Given the description of an element on the screen output the (x, y) to click on. 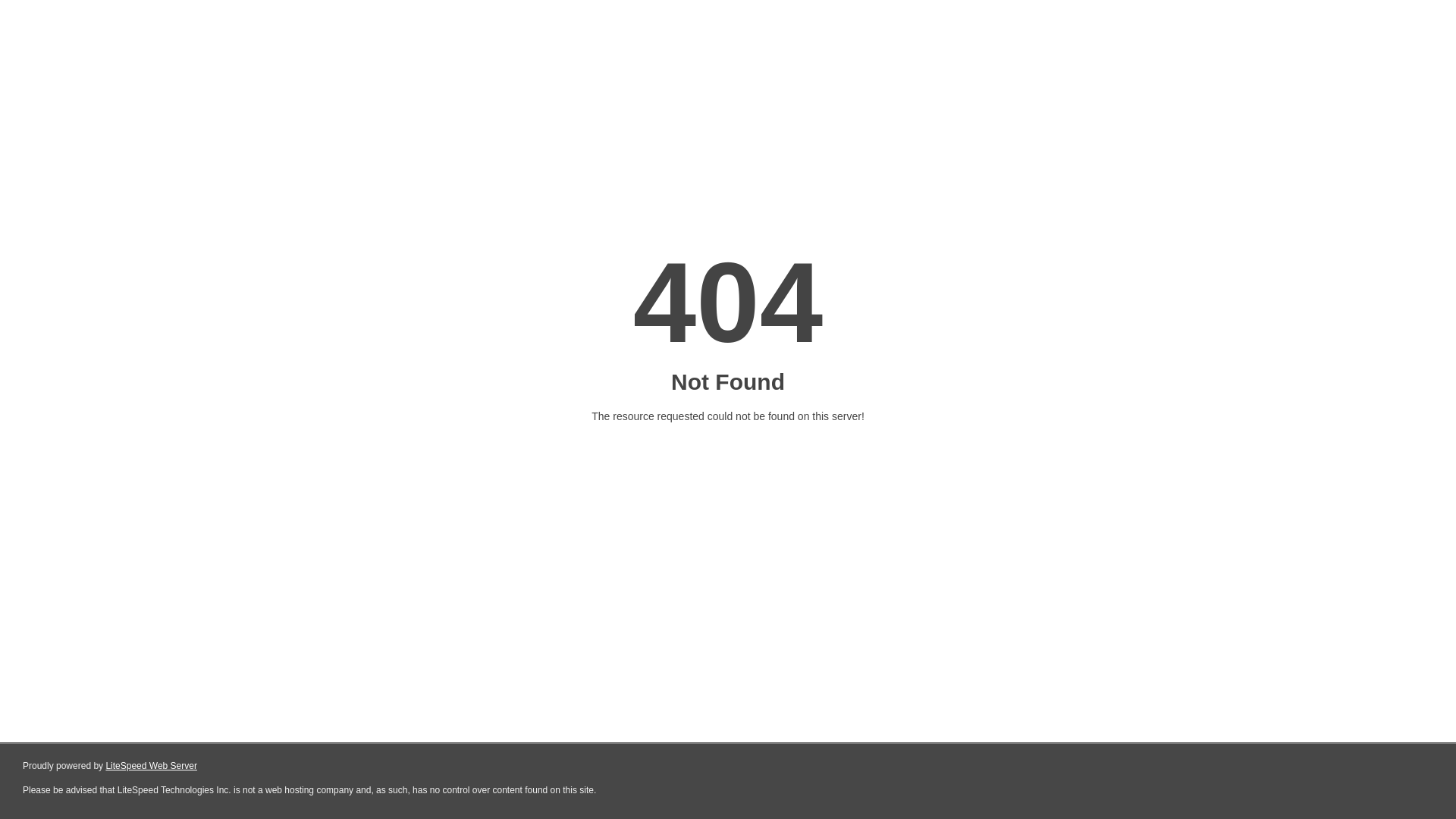
LiteSpeed Web Server Element type: text (151, 765)
